Given the description of an element on the screen output the (x, y) to click on. 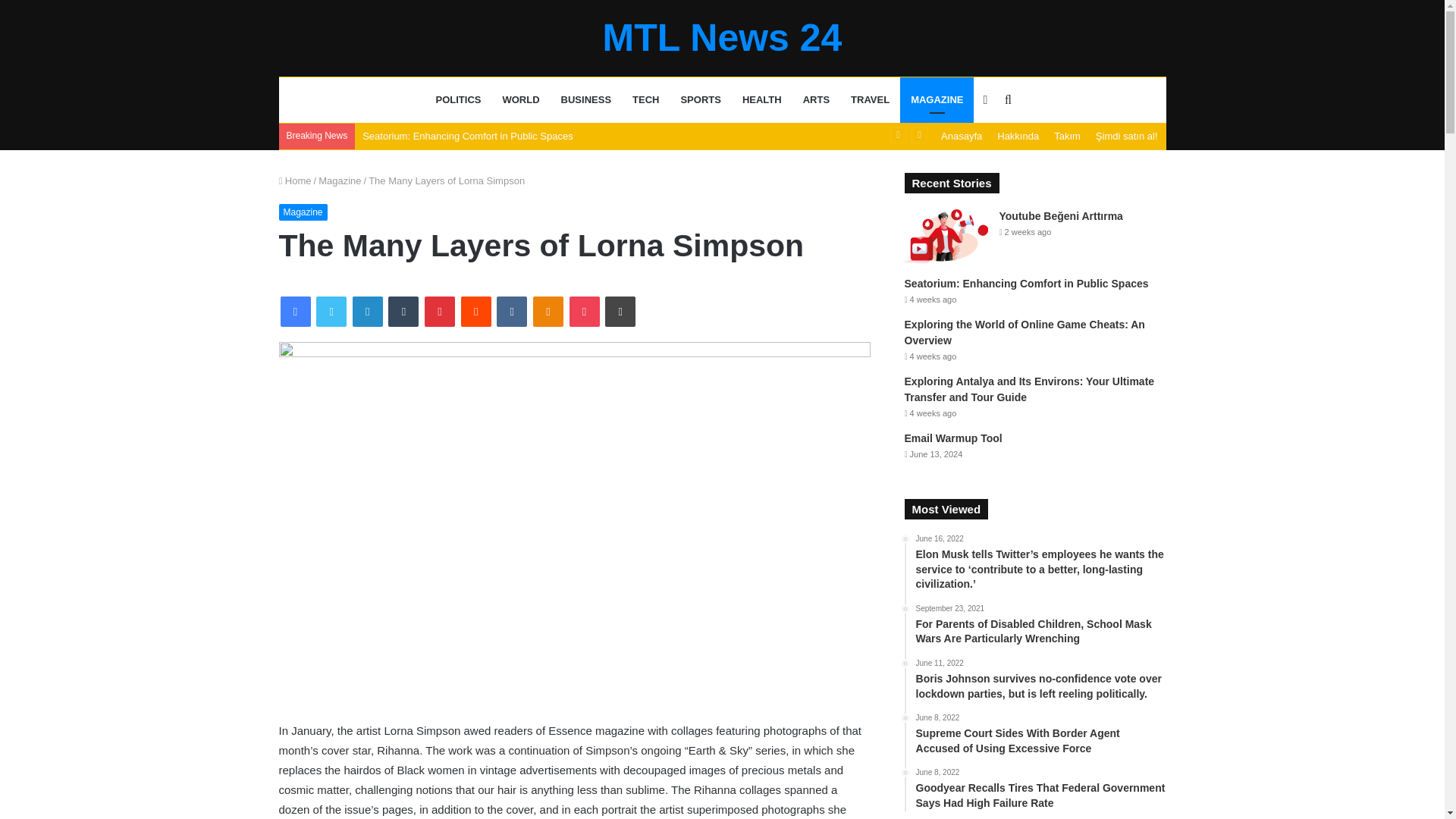
Magazine (339, 180)
MTL News 24 (722, 37)
Reddit (476, 311)
TECH (645, 99)
Pocket (583, 311)
WORLD (521, 99)
ARTS (816, 99)
Tumblr (403, 311)
TRAVEL (869, 99)
Facebook (296, 311)
LinkedIn (367, 311)
Pocket (583, 311)
VKontakte (511, 311)
MAGAZINE (936, 99)
LinkedIn (367, 311)
